Given the description of an element on the screen output the (x, y) to click on. 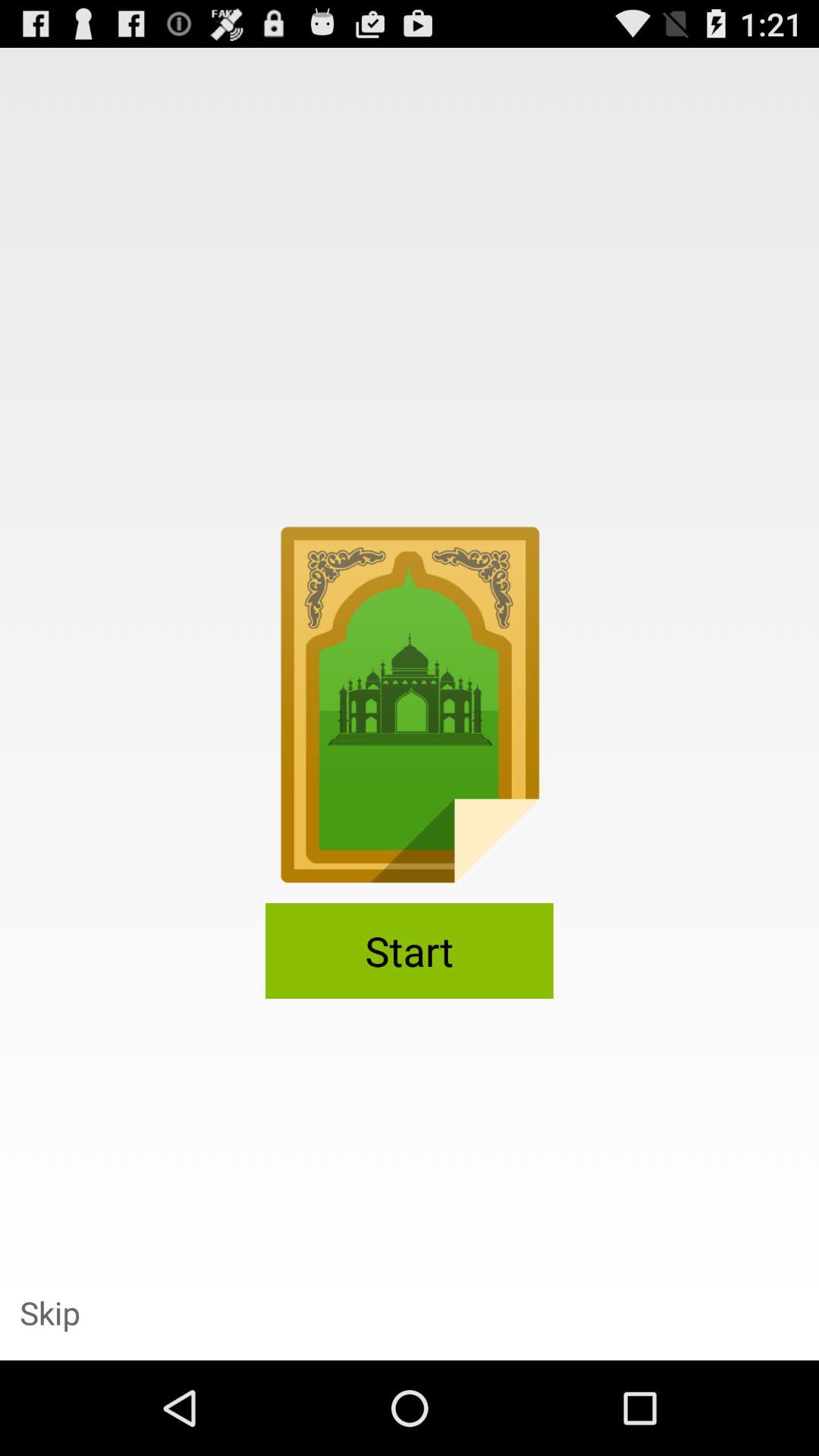
jump until start item (409, 950)
